Given the description of an element on the screen output the (x, y) to click on. 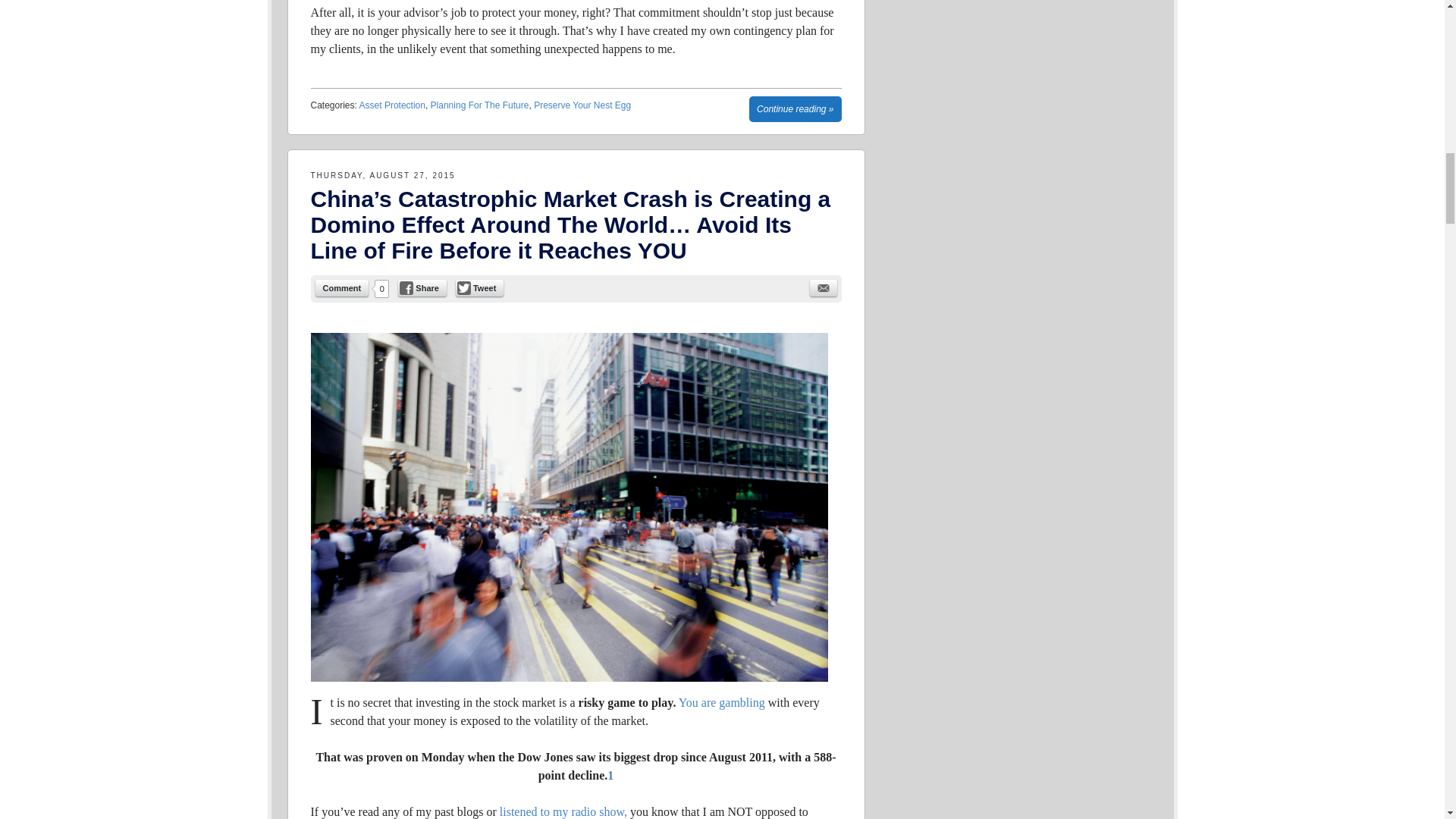
Asset Protection (392, 104)
What Happens To My Money If My Financial Advisor Dies? (795, 109)
